Given the description of an element on the screen output the (x, y) to click on. 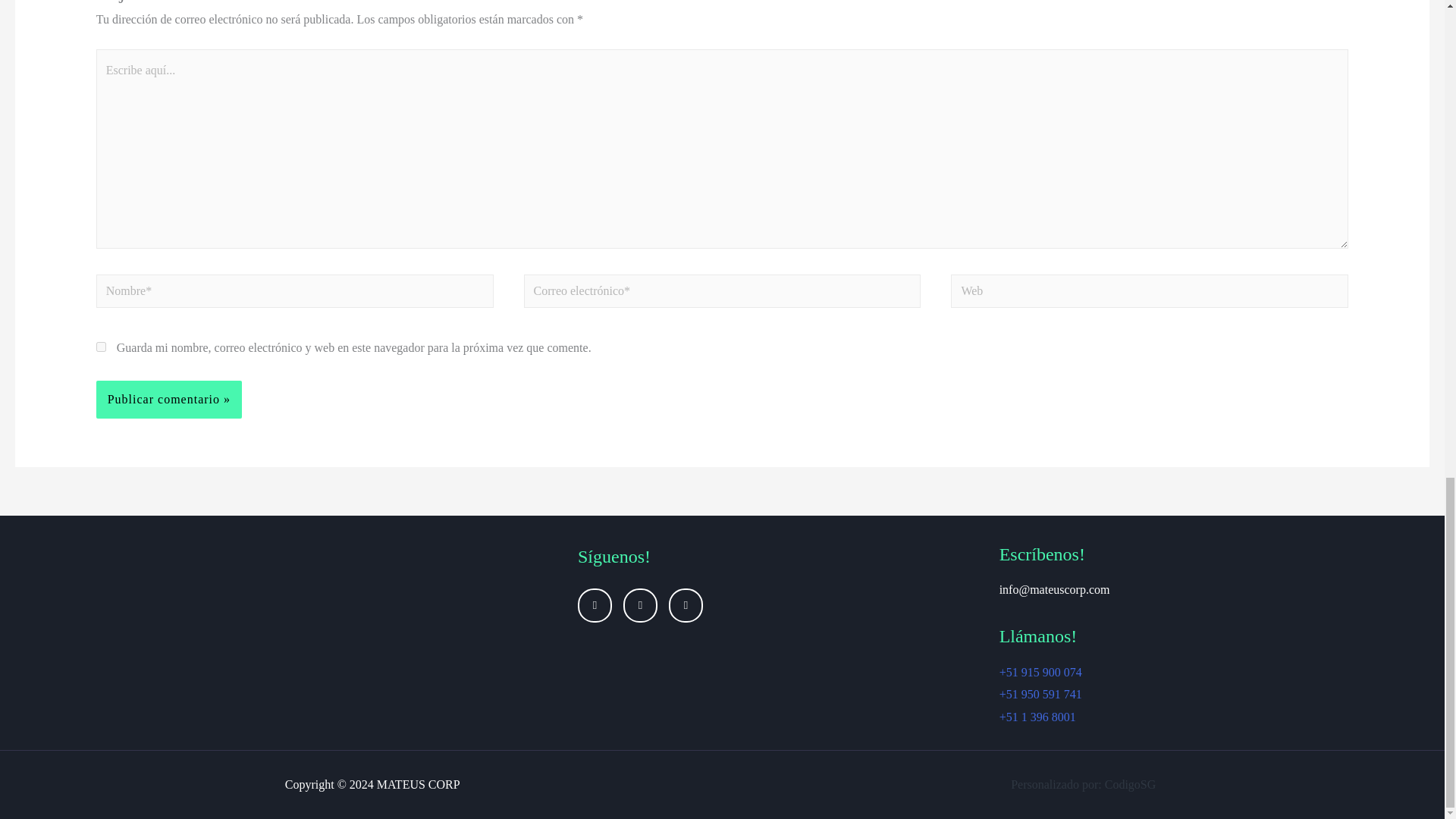
yes (101, 347)
